Given the description of an element on the screen output the (x, y) to click on. 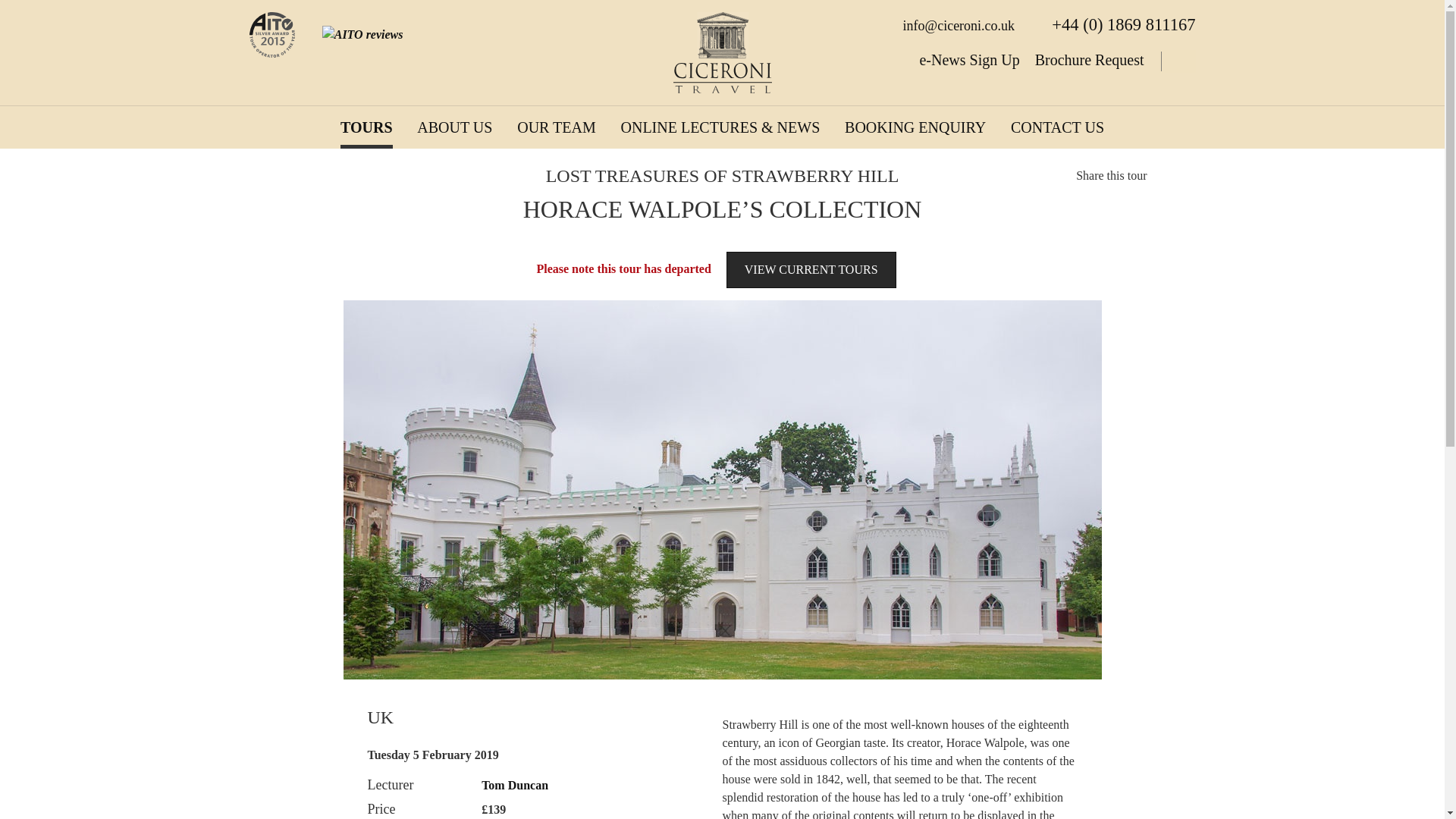
CONTACT US (1056, 127)
Ciceroni Travel (721, 53)
Brochure Request (1089, 59)
ABOUT US (454, 127)
TOURS (366, 127)
Tom Duncan (514, 784)
e-News Sign Up (968, 59)
OUR TEAM (555, 127)
BOOKING ENQUIRY (914, 127)
Search (1176, 61)
VIEW CURRENT TOURS (811, 269)
